Given the description of an element on the screen output the (x, y) to click on. 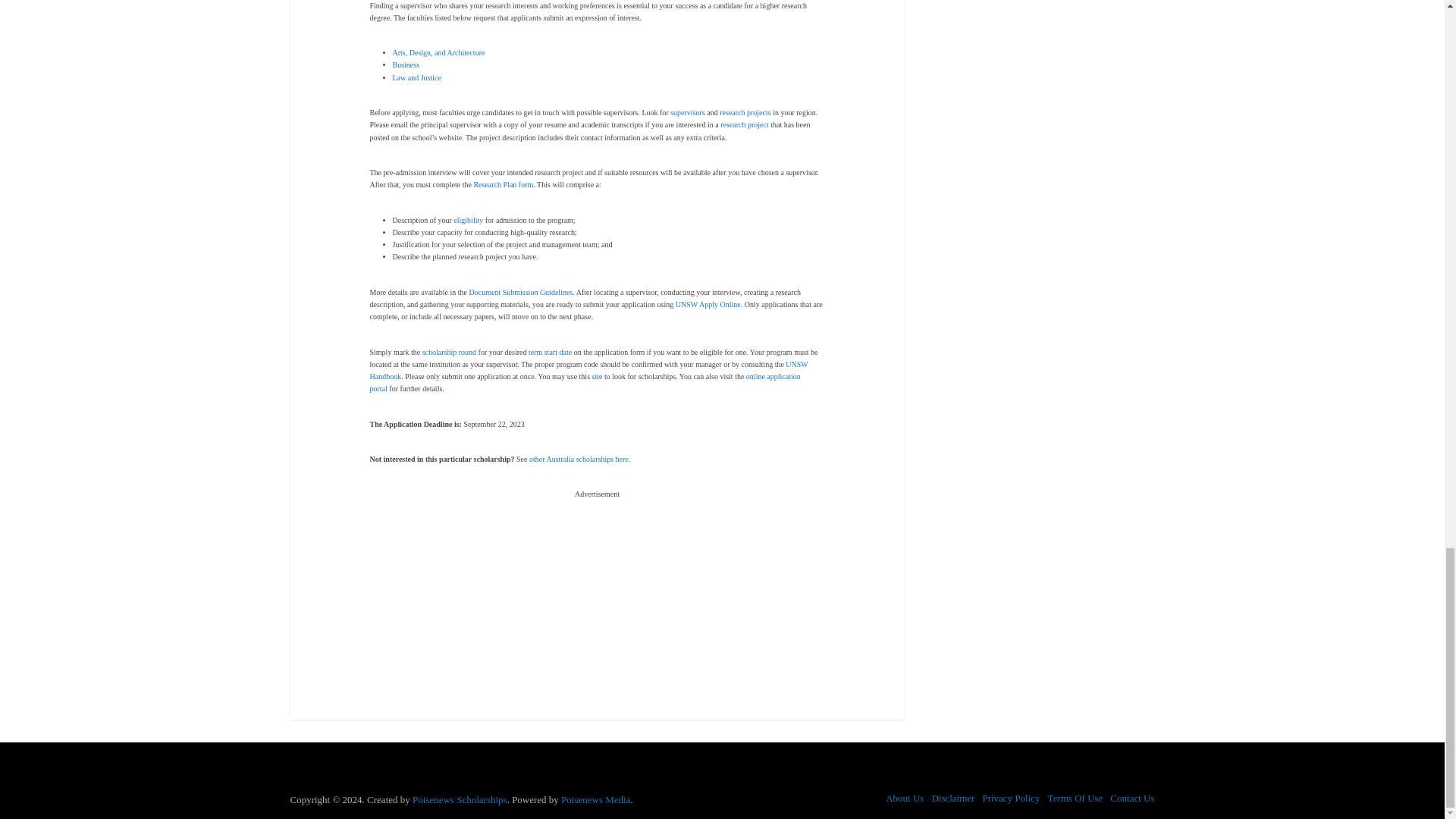
research projects (744, 112)
Business (406, 64)
Research Plan form (502, 184)
site (597, 376)
UNSW Apply Online (708, 304)
Poisenews Scholarships (459, 799)
scholarship round (449, 352)
UNSW Handbook (588, 370)
Law and Justice (417, 77)
Arts, Design, and Architecture (438, 52)
